Given the description of an element on the screen output the (x, y) to click on. 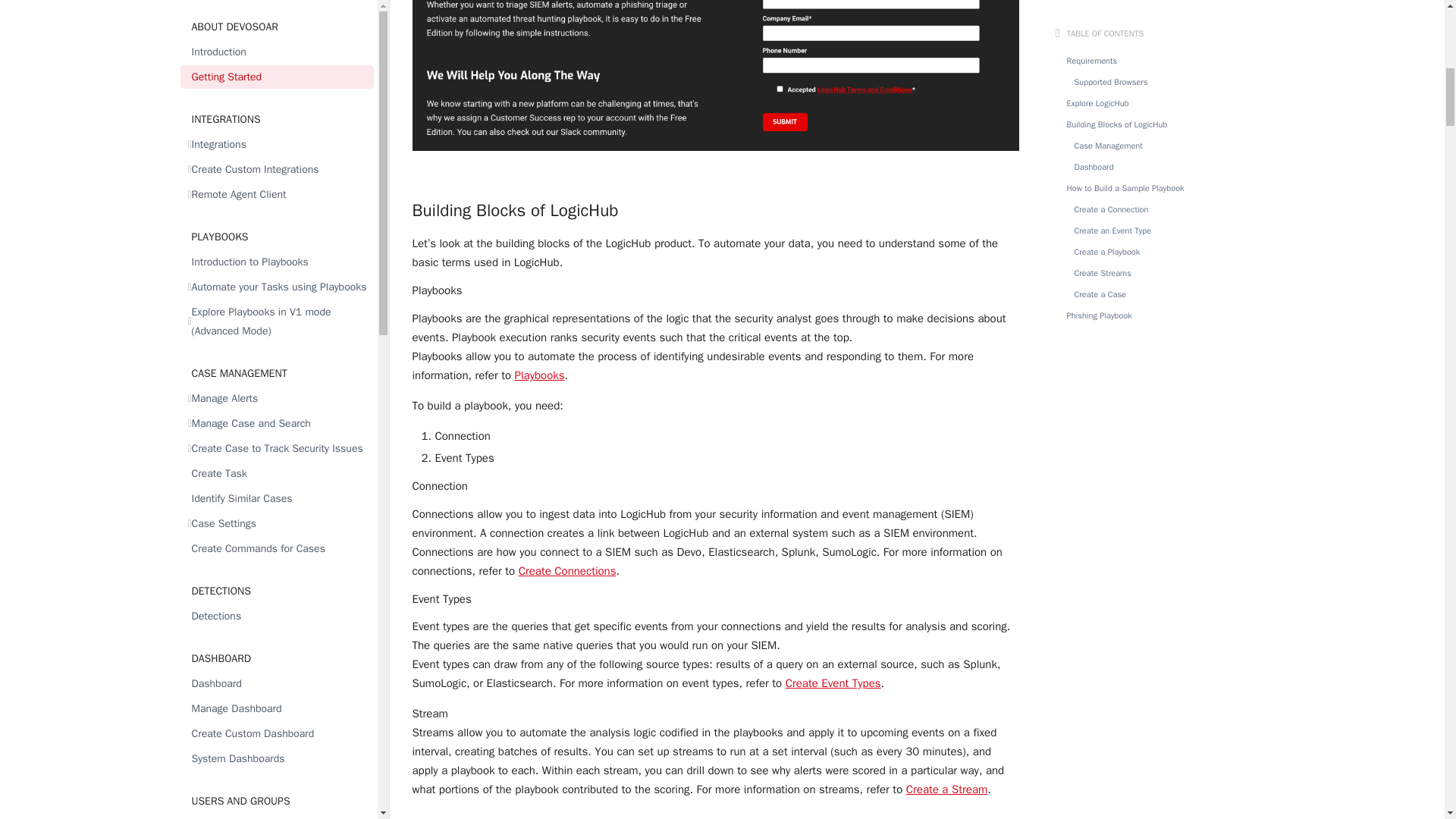
Event Types (715, 599)
Building Blocks of LogicHub (715, 203)
Playbooks (715, 290)
Connection (715, 486)
Free-Edition.png (715, 84)
